Given the description of an element on the screen output the (x, y) to click on. 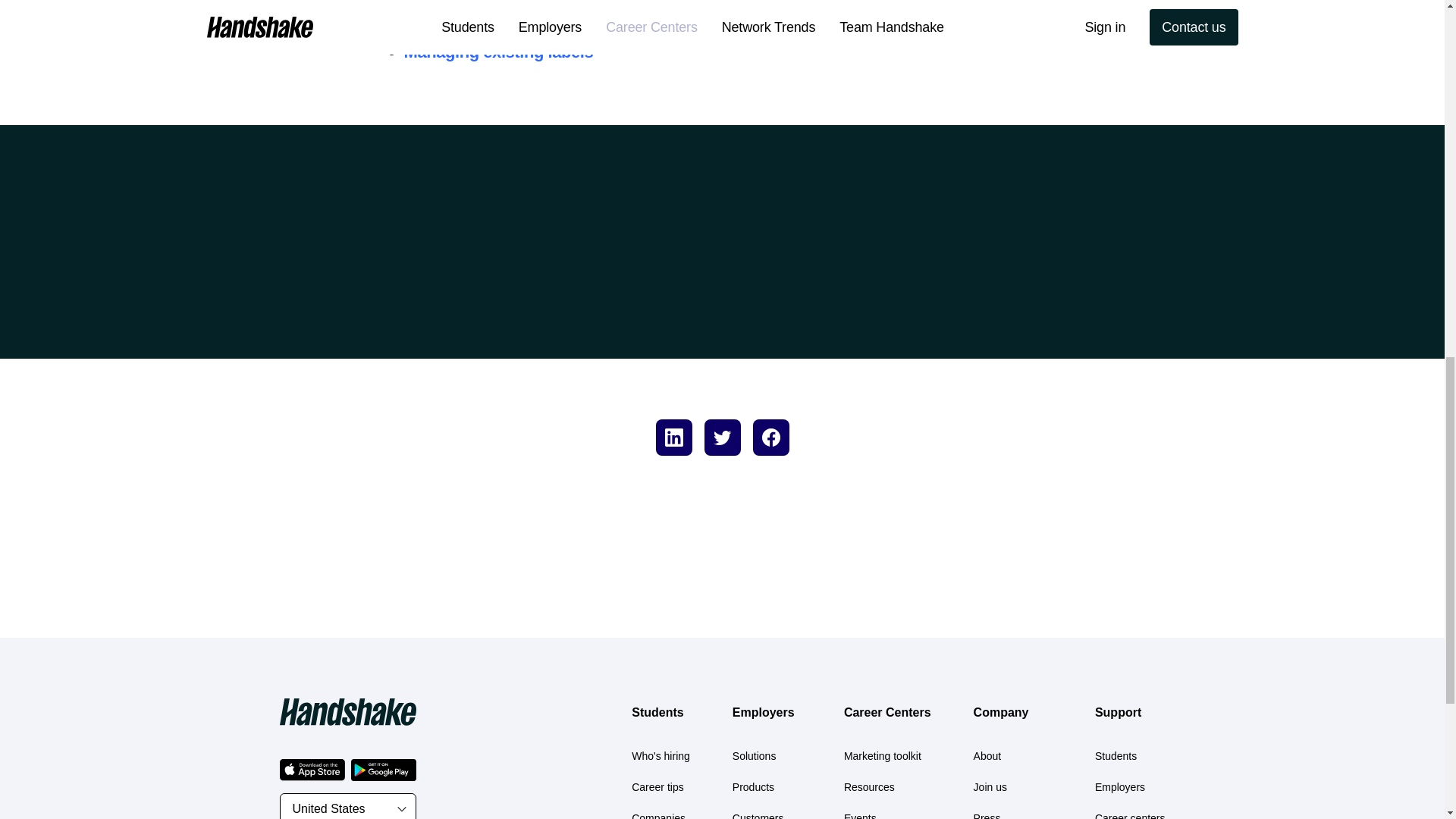
Download Android app (382, 770)
Managing existing labels (497, 51)
Solutions (754, 756)
Download iOS pp (311, 770)
Companies (658, 815)
Products (753, 787)
Students (656, 712)
Who's hiring (660, 756)
Career tips (656, 787)
Employers (763, 712)
